Given the description of an element on the screen output the (x, y) to click on. 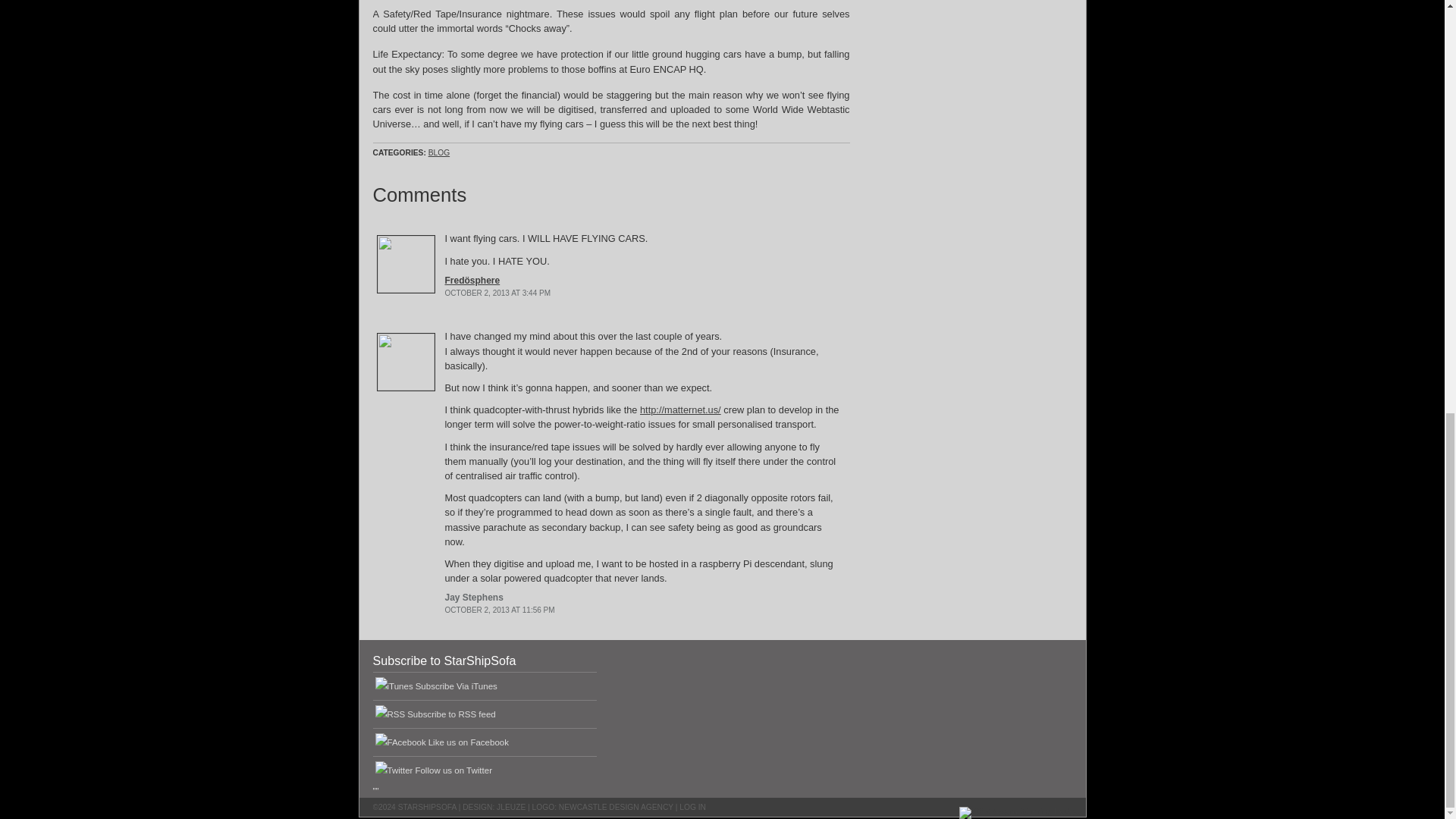
OCTOBER 2, 2013 AT 11:56 PM (499, 610)
Facebook (468, 741)
Subscribe to RSS feed (451, 714)
Subscribe on iTunes (455, 686)
Twitter (453, 769)
BLOG (438, 152)
Get A Postcard Sent From ME! (967, 31)
OCTOBER 2, 2013 AT 3:44 PM (497, 293)
Web Design by Josh Leuze (510, 807)
Canny Creative (615, 807)
